Given the description of an element on the screen output the (x, y) to click on. 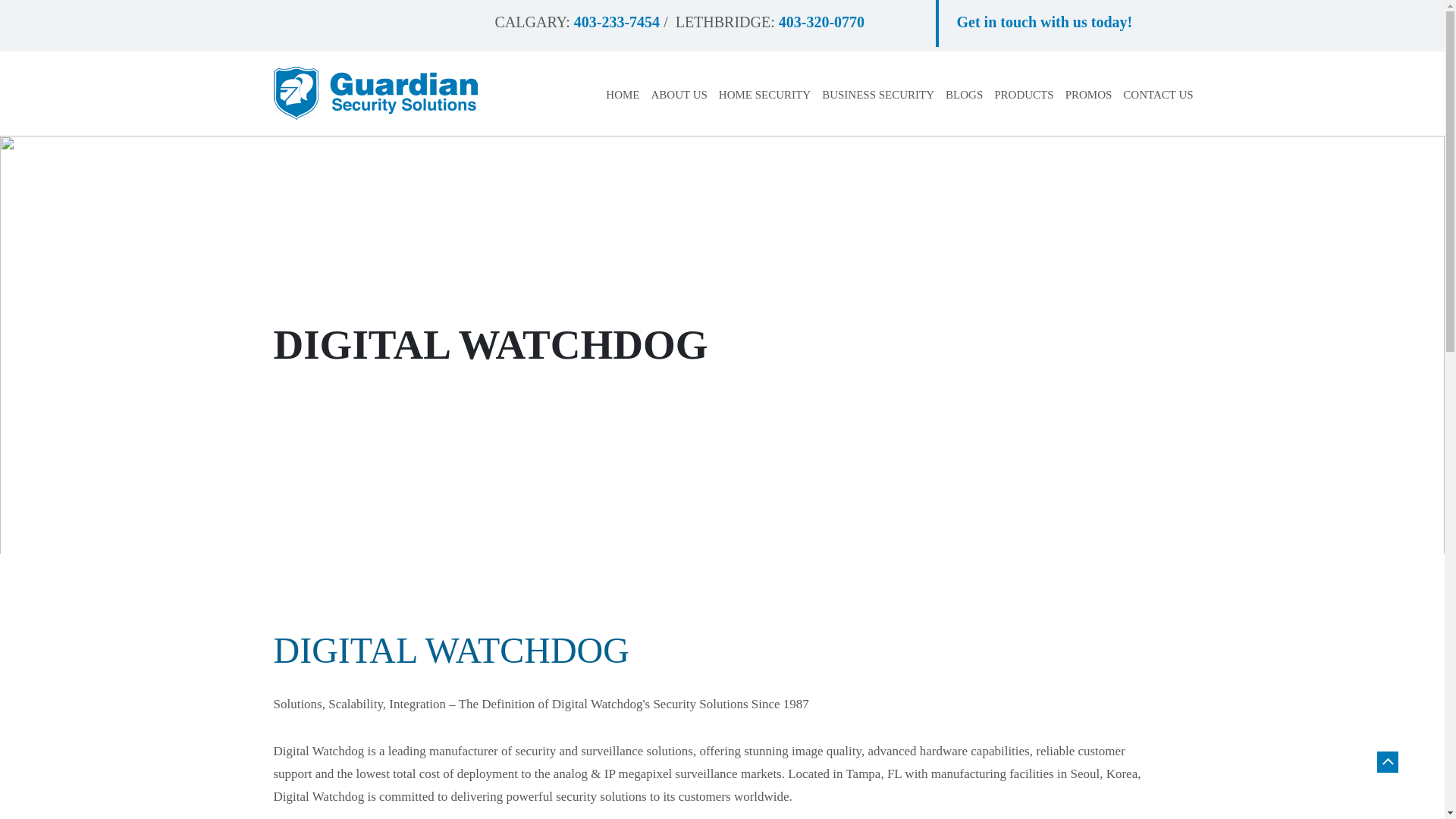
PRODUCTS (1023, 95)
ABOUT US (678, 95)
Get in touch with us today! (1044, 24)
BUSINESS SECURITY (878, 95)
HOME SECURITY (764, 95)
403-320-0770 (821, 24)
BLOGS (963, 95)
HOME (622, 95)
403-233-7454 (616, 24)
